Given the description of an element on the screen output the (x, y) to click on. 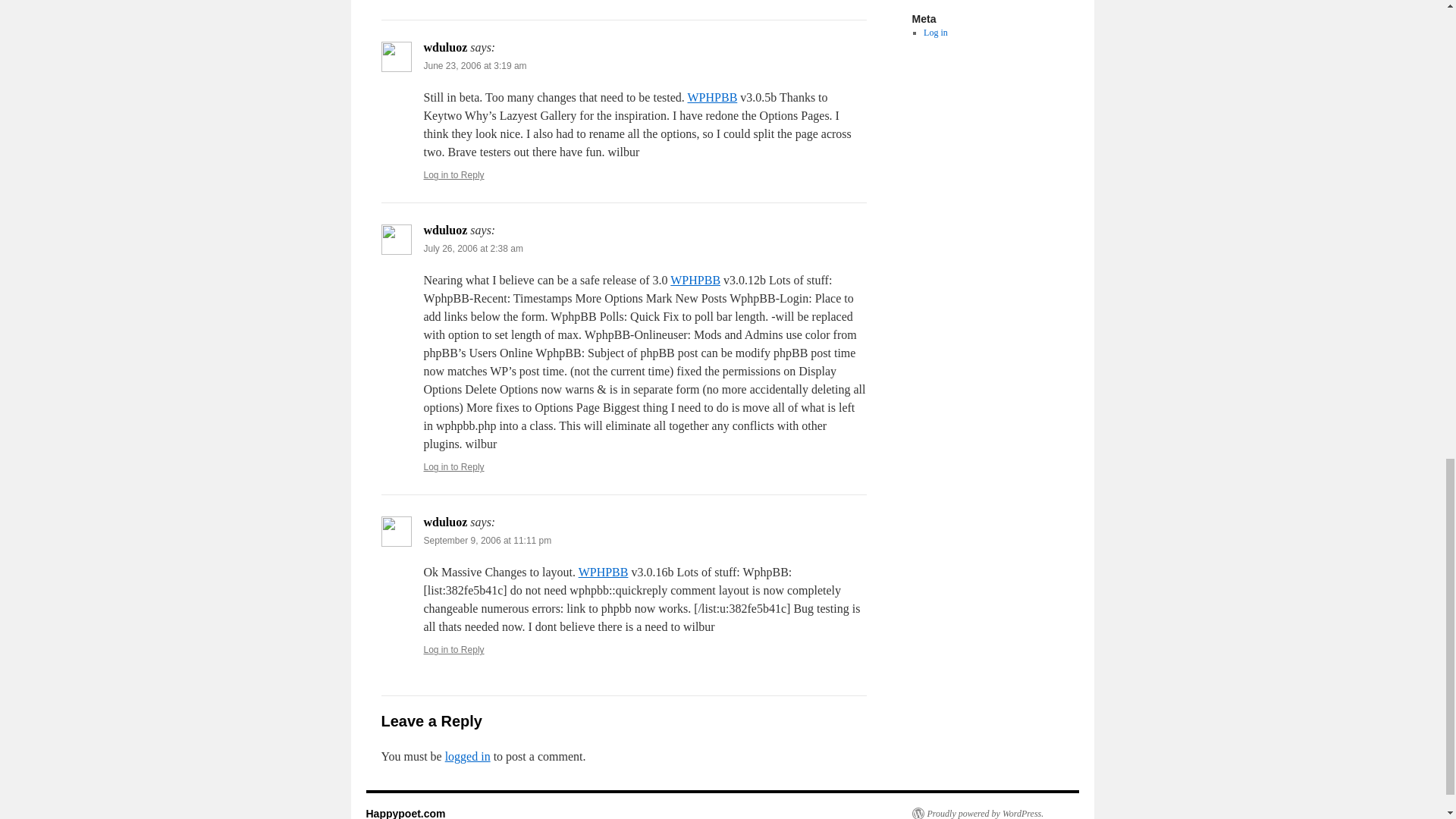
June 23, 2006 at 3:19 am (474, 65)
Log in to Reply (453, 174)
WPHPBB (603, 571)
September 9, 2006 at 11:11 pm (487, 540)
WPHPBB (711, 97)
WPHPBB (694, 279)
Log in to Reply (453, 649)
Log in to Reply (453, 466)
July 26, 2006 at 2:38 am (472, 248)
logged in (467, 756)
